Given the description of an element on the screen output the (x, y) to click on. 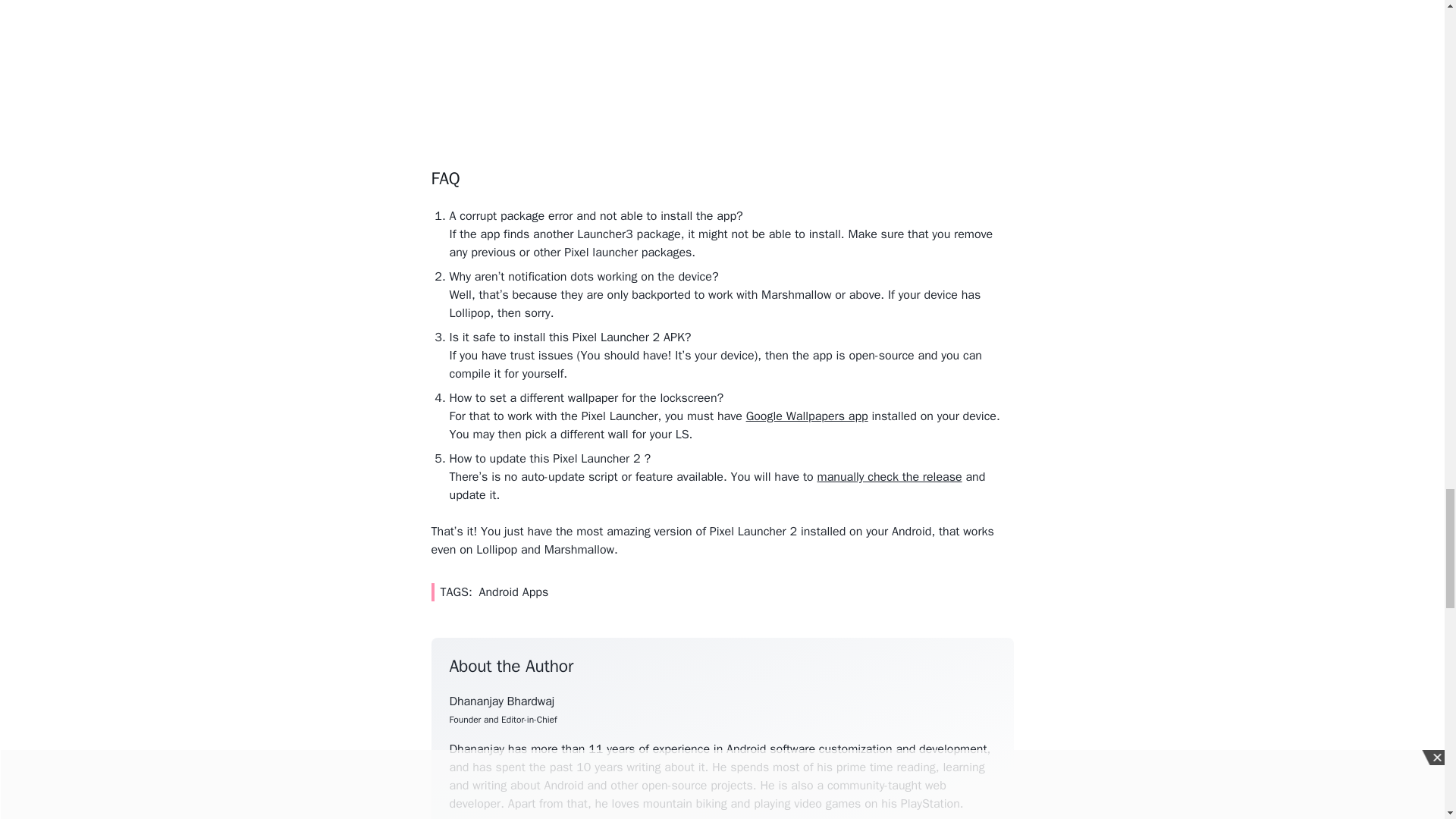
manually check the release (889, 476)
Android Apps (513, 591)
Google Wallpapers app (806, 416)
Dhananjay Bhardwaj (501, 701)
